Given the description of an element on the screen output the (x, y) to click on. 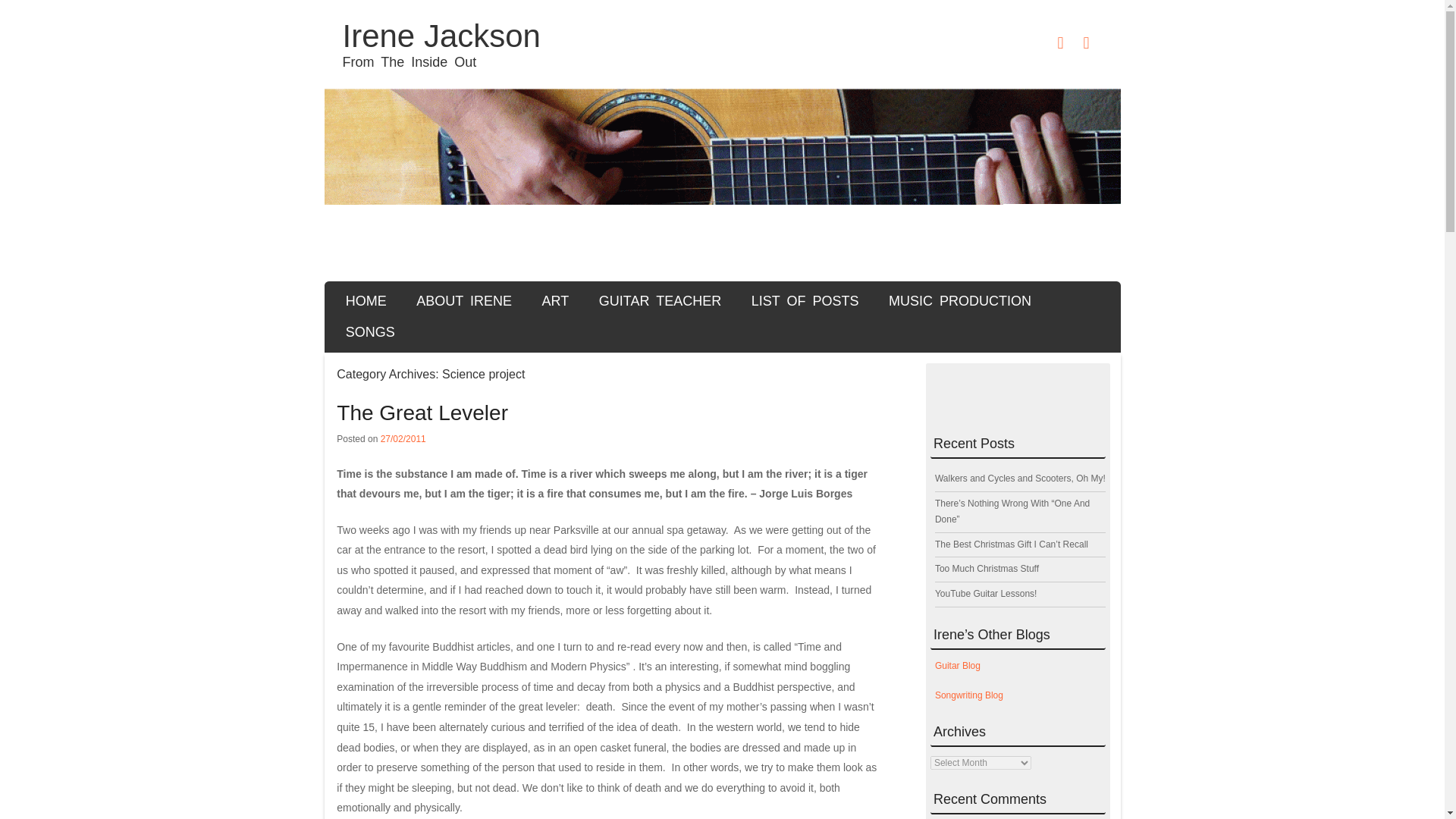
SKIP TO CONTENT (397, 296)
YouTube Guitar Lessons! (985, 593)
Irene Jackson (441, 36)
LIST OF POSTS (804, 300)
GUITAR TEACHER (660, 300)
The Great Leveler (422, 413)
Walkers and Cycles and Scooters, Oh My! (1019, 478)
Songwriting Blog (968, 695)
Permalink to The Great Leveler (422, 413)
Skip to content (397, 296)
